Given the description of an element on the screen output the (x, y) to click on. 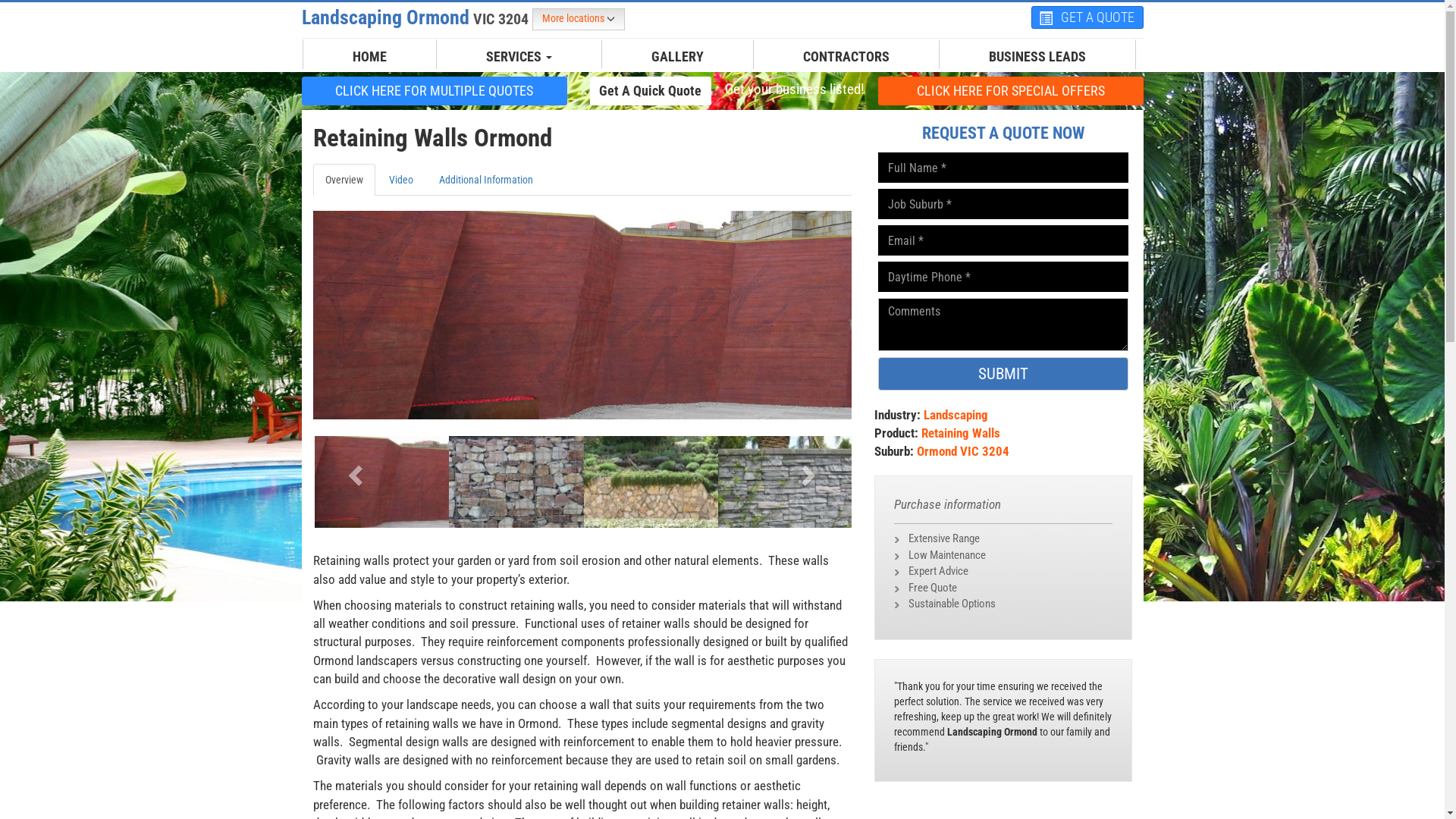
CLICK HERE FOR SPECIAL OFFERS Element type: text (1010, 90)
BUSINESS LEADS Element type: text (1036, 56)
SERVICES Element type: text (518, 56)
Additional Information Element type: text (485, 179)
Get A Quick Quote Element type: text (650, 90)
Get A Quick Quote Element type: text (650, 90)
prev Element type: hover (352, 470)
GALLERY Element type: text (677, 56)
SUBMIT Element type: text (1003, 373)
More locations Element type: text (578, 19)
Overview Element type: text (343, 179)
CONTRACTORS Element type: text (845, 56)
CLICK HERE FOR MULTIPLE QUOTES Element type: text (434, 90)
Get your business listed! Element type: text (793, 89)
Landscaping Ormond VIC 3204 Element type: text (416, 17)
CLICK HERE FOR SPECIAL OFFERS Element type: text (1010, 90)
Video Element type: text (400, 179)
GET A QUOTE Element type: text (1087, 17)
CLICK HERE FOR MULTIPLE QUOTES Element type: text (434, 90)
HOME Element type: text (369, 56)
